Given the description of an element on the screen output the (x, y) to click on. 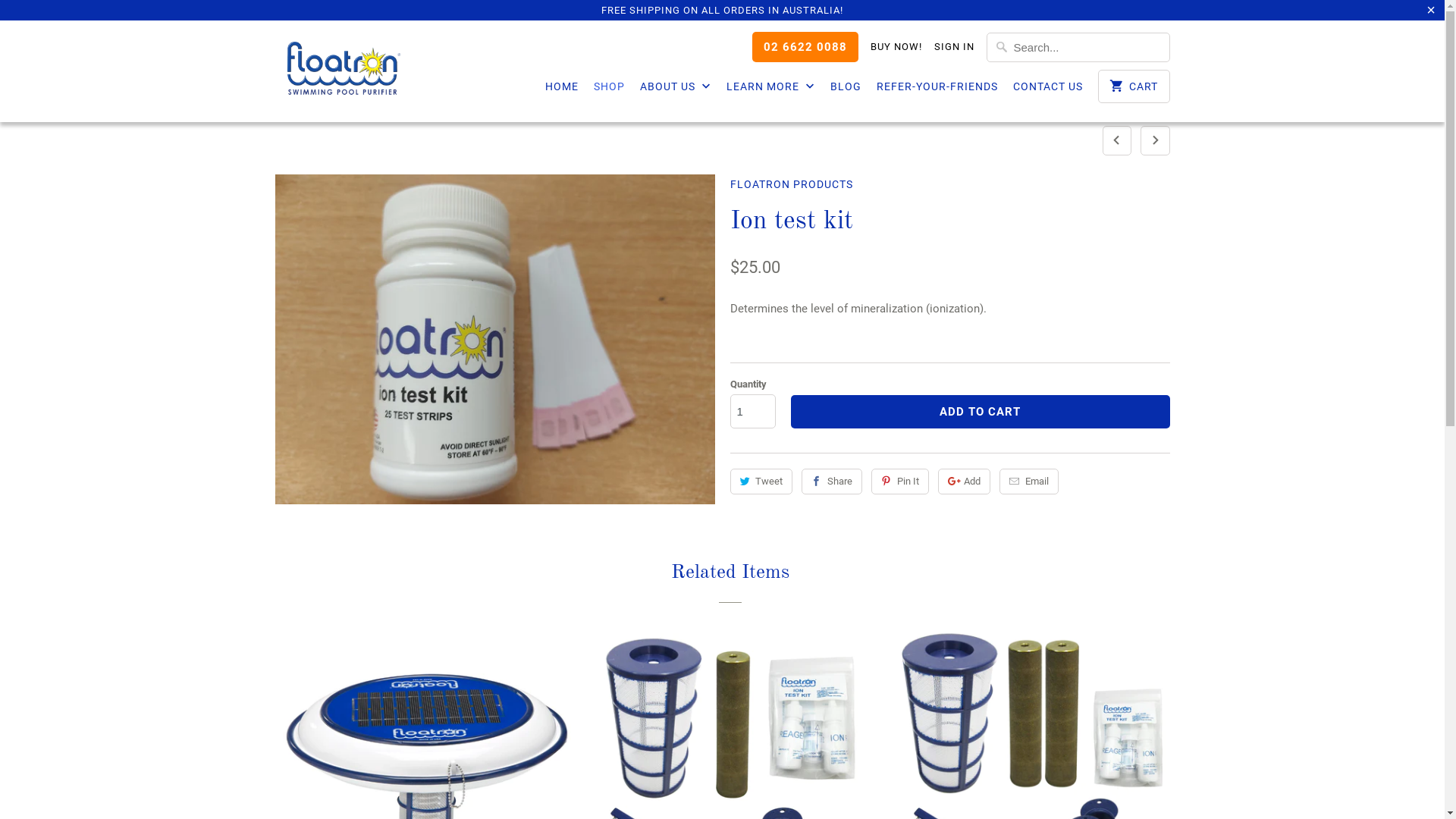
02 6622 0088 Element type: text (805, 46)
FLOATRON PRODUCTS Element type: text (949, 188)
Pin It Element type: text (899, 481)
Email Element type: text (1028, 481)
CART Element type: text (1133, 86)
HOME Element type: text (561, 90)
Add Element type: text (964, 481)
floatron Australia Element type: hover (342, 72)
BUY NOW! Element type: text (896, 46)
SHOP Element type: text (608, 90)
Tweet Element type: text (760, 481)
SIGN IN Element type: text (954, 46)
BLOG Element type: text (845, 90)
ABOUT US Element type: text (675, 90)
CONTACT US Element type: text (1047, 90)
REFER-YOUR-FRIENDS Element type: text (936, 90)
ADD TO CART Element type: text (979, 411)
Share Element type: text (831, 481)
LEARN MORE Element type: text (770, 90)
